Given the description of an element on the screen output the (x, y) to click on. 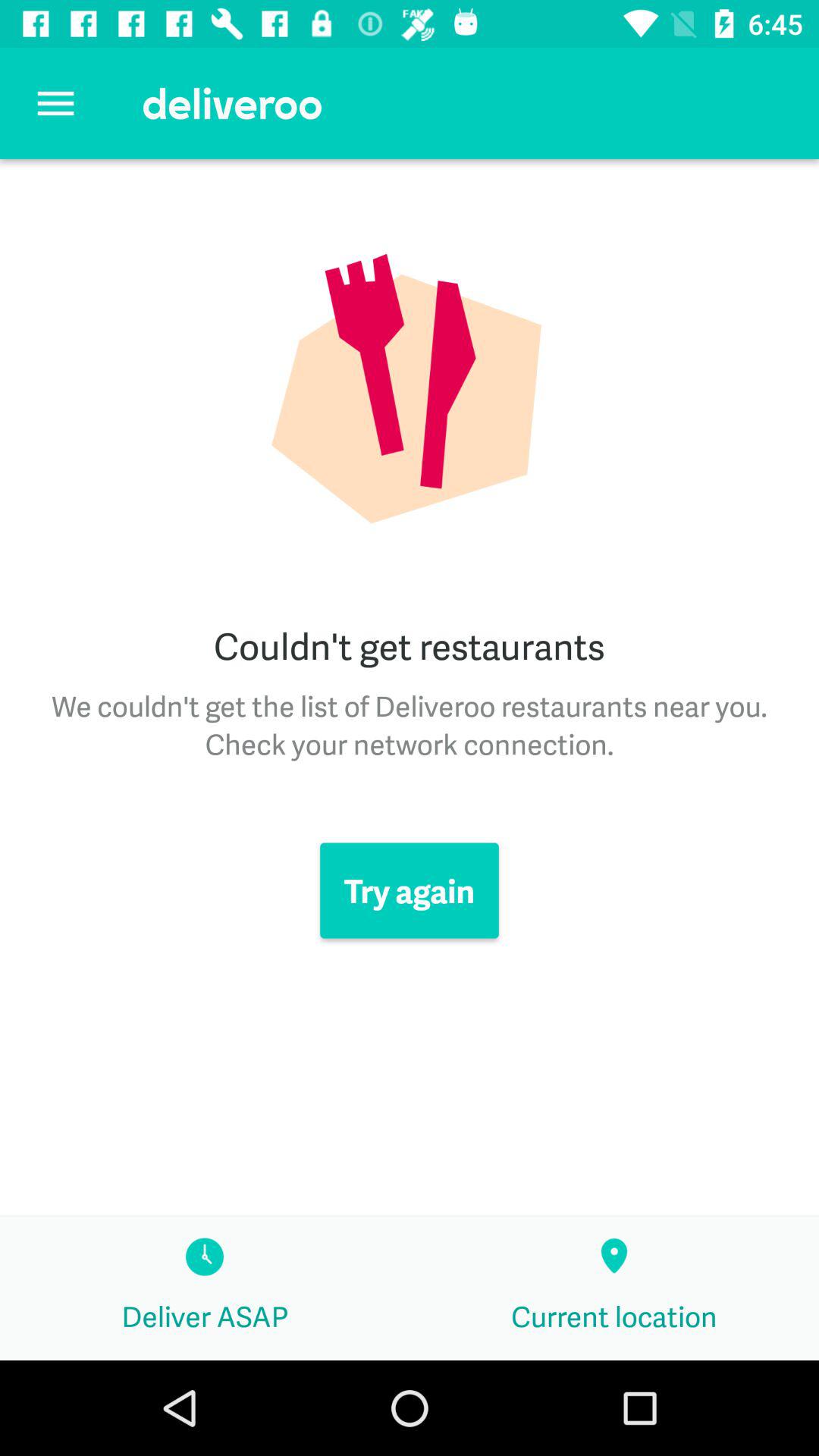
select try again icon (409, 890)
